Given the description of an element on the screen output the (x, y) to click on. 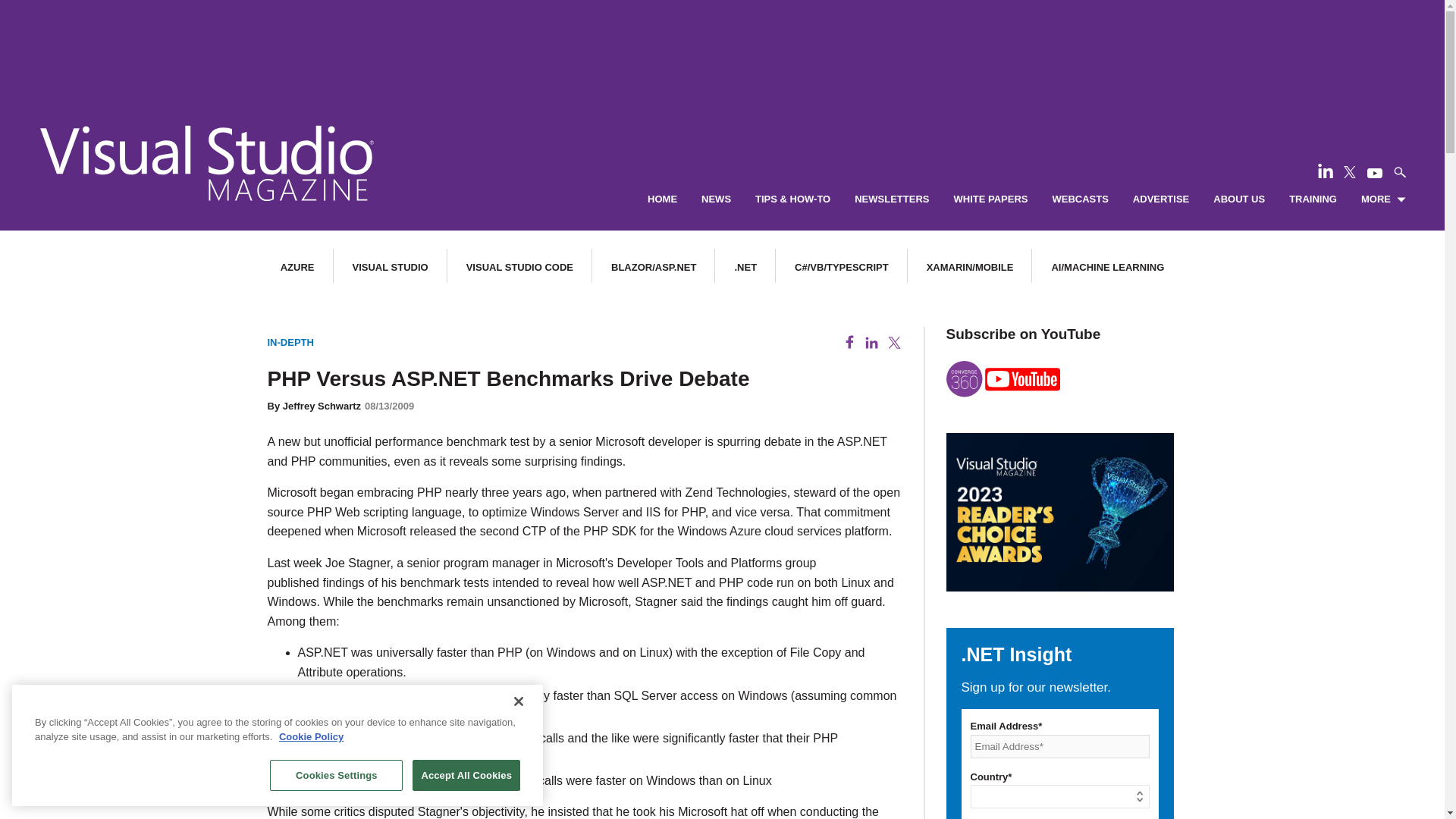
TRAINING (1312, 199)
VISUAL STUDIO (390, 266)
ABOUT US (1238, 199)
WEBCASTS (1079, 199)
VISUAL STUDIO CODE (519, 266)
MORE (1383, 199)
AZURE (297, 266)
NEWS (715, 199)
3rd party ad content (721, 45)
HOME (662, 199)
